Given the description of an element on the screen output the (x, y) to click on. 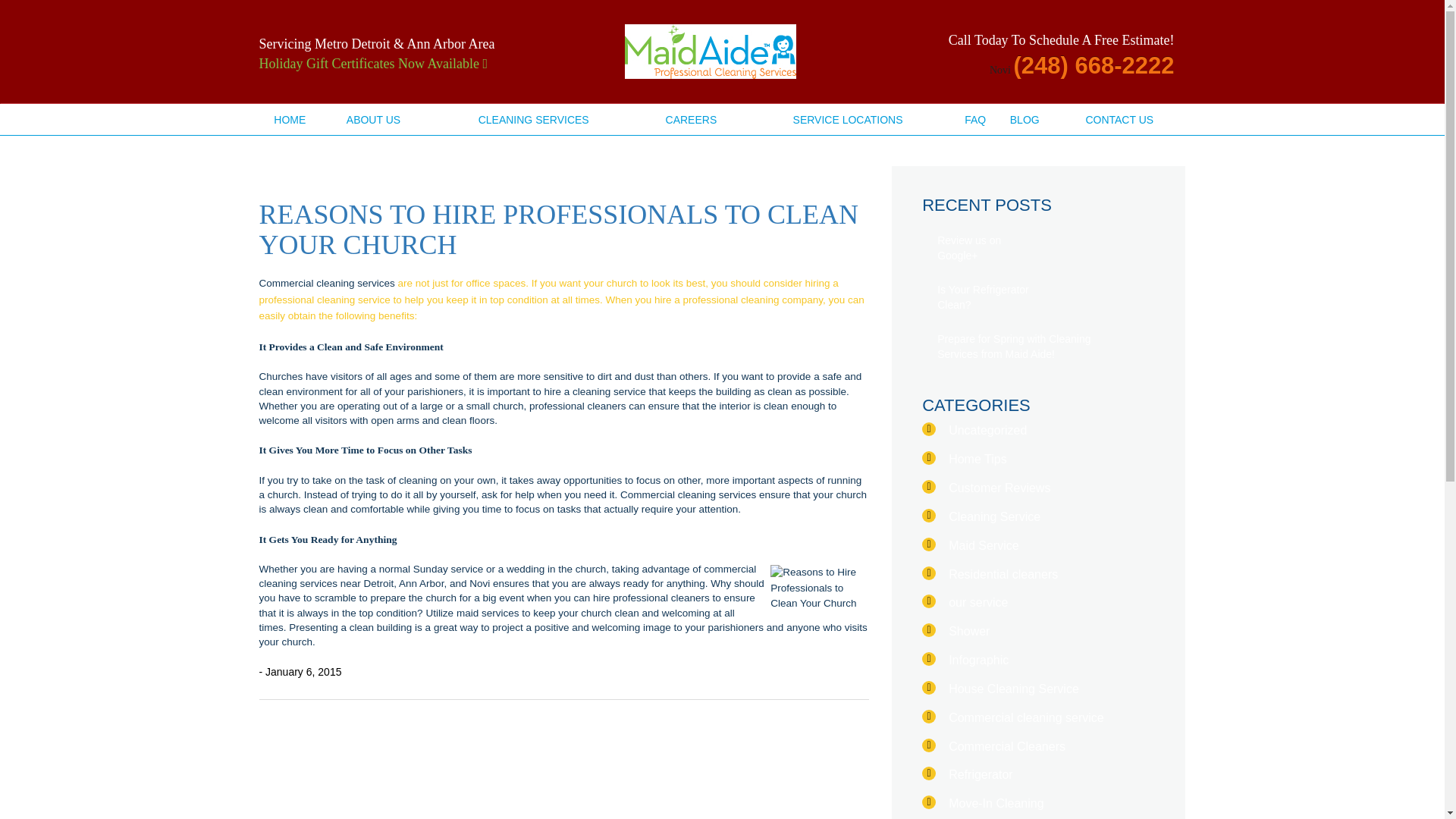
Uncategorized (987, 430)
our service (978, 602)
Next Post (861, 714)
Previous Post (267, 714)
Refrigerator (980, 774)
Residential cleaners (1003, 574)
SERVICE LOCATIONS (848, 119)
HOME (290, 119)
Move-In Cleaning (996, 802)
Commercial Cleaners (1007, 746)
